Given the description of an element on the screen output the (x, y) to click on. 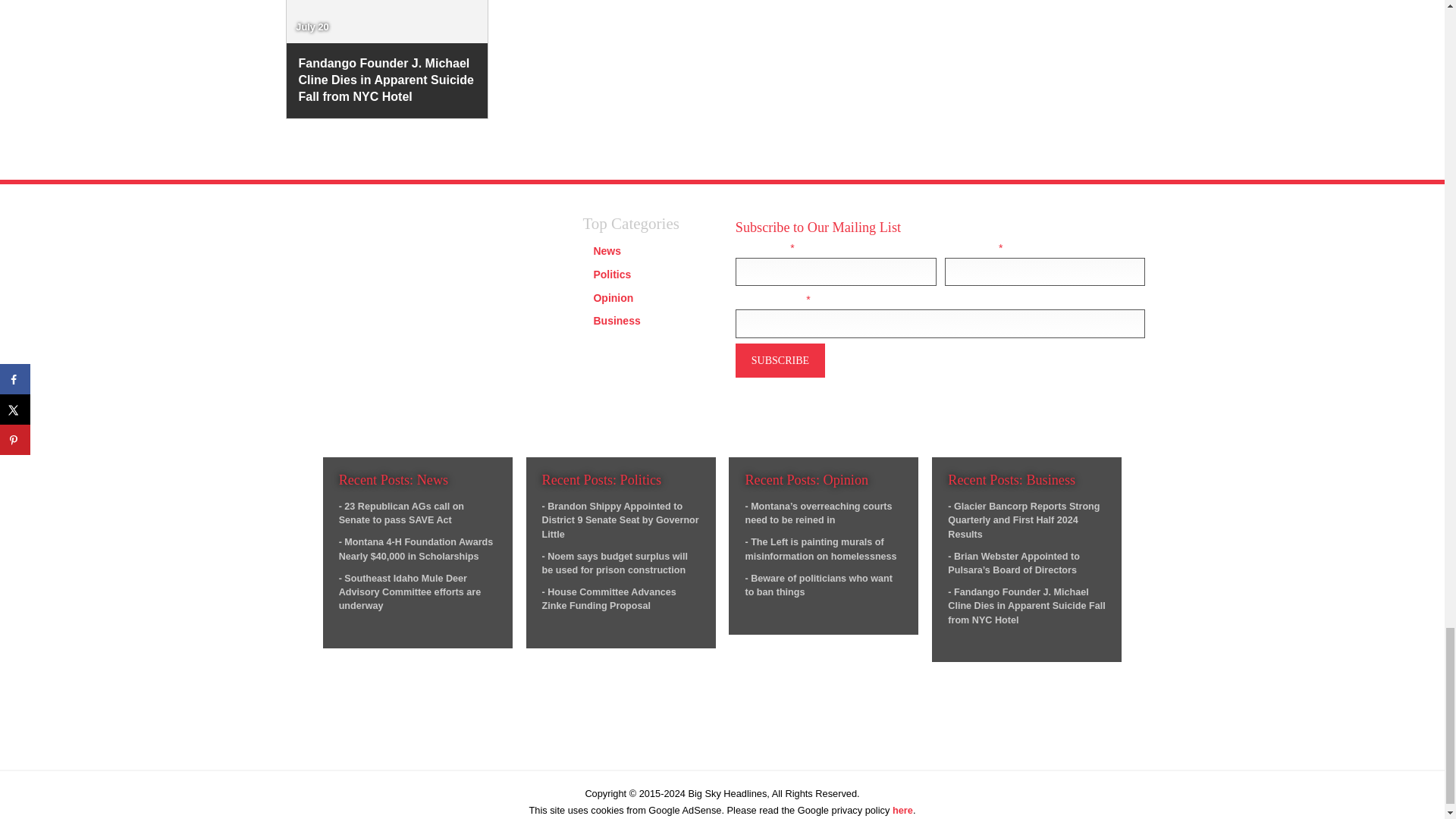
Business (616, 320)
- House Committee Advances Zinke Funding Proposal (609, 598)
Contact Big Sky Headlines (366, 426)
About Big Sky Headlines (362, 408)
Subscribe (780, 360)
Opinion Category (612, 297)
Politics Category (611, 274)
Politics (611, 274)
23 Republican AGs call on Senate to pass SAVE Act (401, 513)
Subscribe (780, 360)
Contact Big Sky Headlines (366, 426)
